Given the description of an element on the screen output the (x, y) to click on. 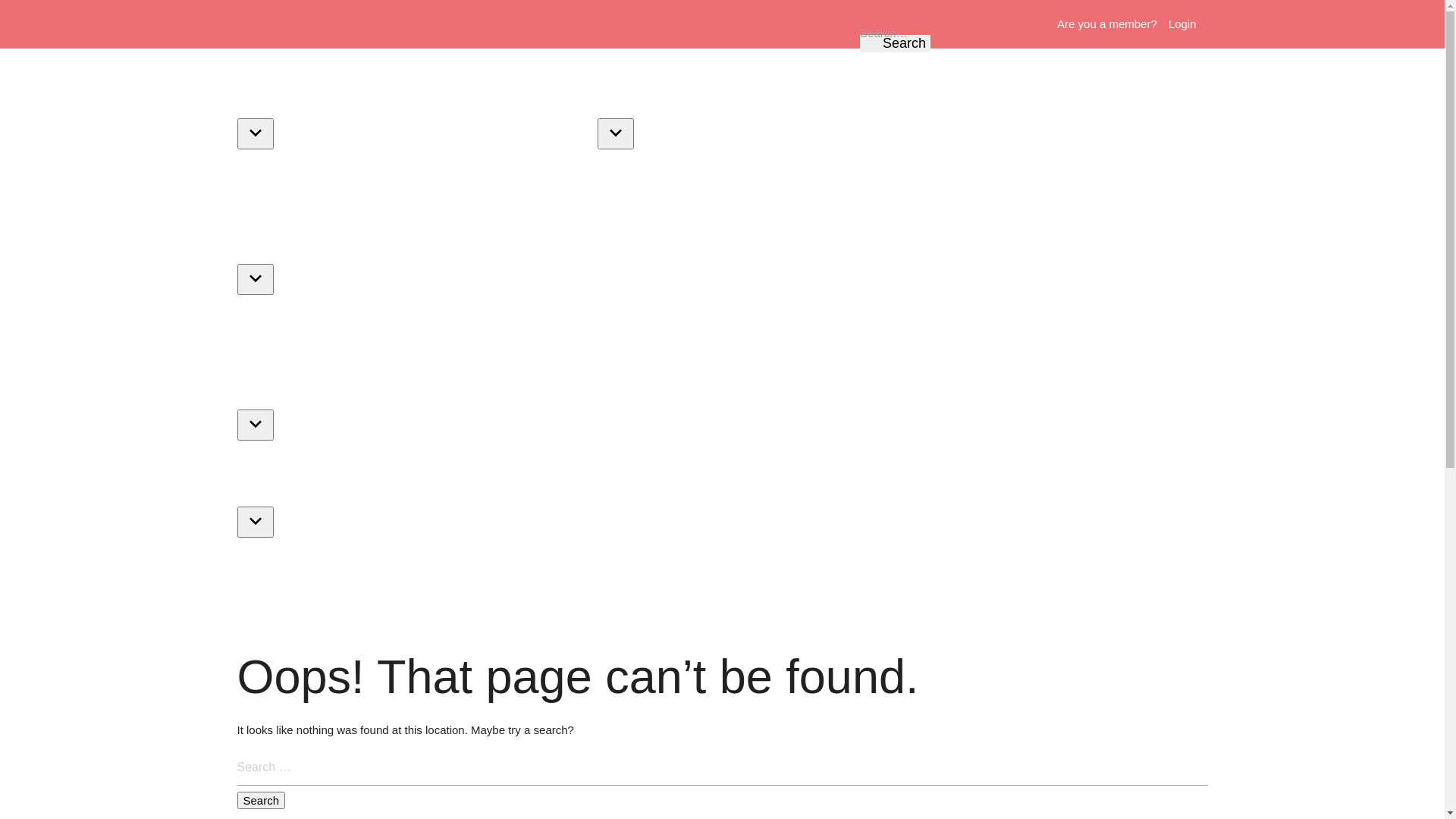
WiBF Peak Performance Coaching Element type: text (1001, 529)
Search Element type: text (894, 43)
What We do Element type: text (278, 189)
WiBF Members Element type: text (985, 189)
Join Us Element type: text (352, 626)
Build your Personal and Professional Brand Element type: text (357, 577)
Get Involved Element type: text (475, 189)
National Industry Awards Element type: text (310, 334)
WiBF Corporate Membership Element type: text (682, 189)
Contact Us Element type: text (557, 189)
Latest News Element type: text (279, 626)
Search Element type: text (260, 800)
Applied Confidence Element type: text (758, 577)
Great Leaders Are Made Element type: text (892, 577)
Membership Element type: text (879, 92)
WiBF Individual Membership Element type: text (851, 189)
WiBF Masterclasses Element type: text (467, 480)
WiBF Mentoring Program Element type: text (773, 480)
Resilience and Re-Framing Adversities Element type: text (589, 577)
WiBF Calendar Element type: text (435, 334)
WiBF Inclusive Leadership Program Element type: text (800, 529)
About Element type: text (416, 92)
WiBF Leadership Element type: text (377, 189)
WiBF Honour Board Element type: text (1098, 189)
WiBF Programs Element type: text (721, 383)
Login Element type: text (1182, 24)
WiBF Events and Webinars Element type: text (360, 237)
